Given the description of an element on the screen output the (x, y) to click on. 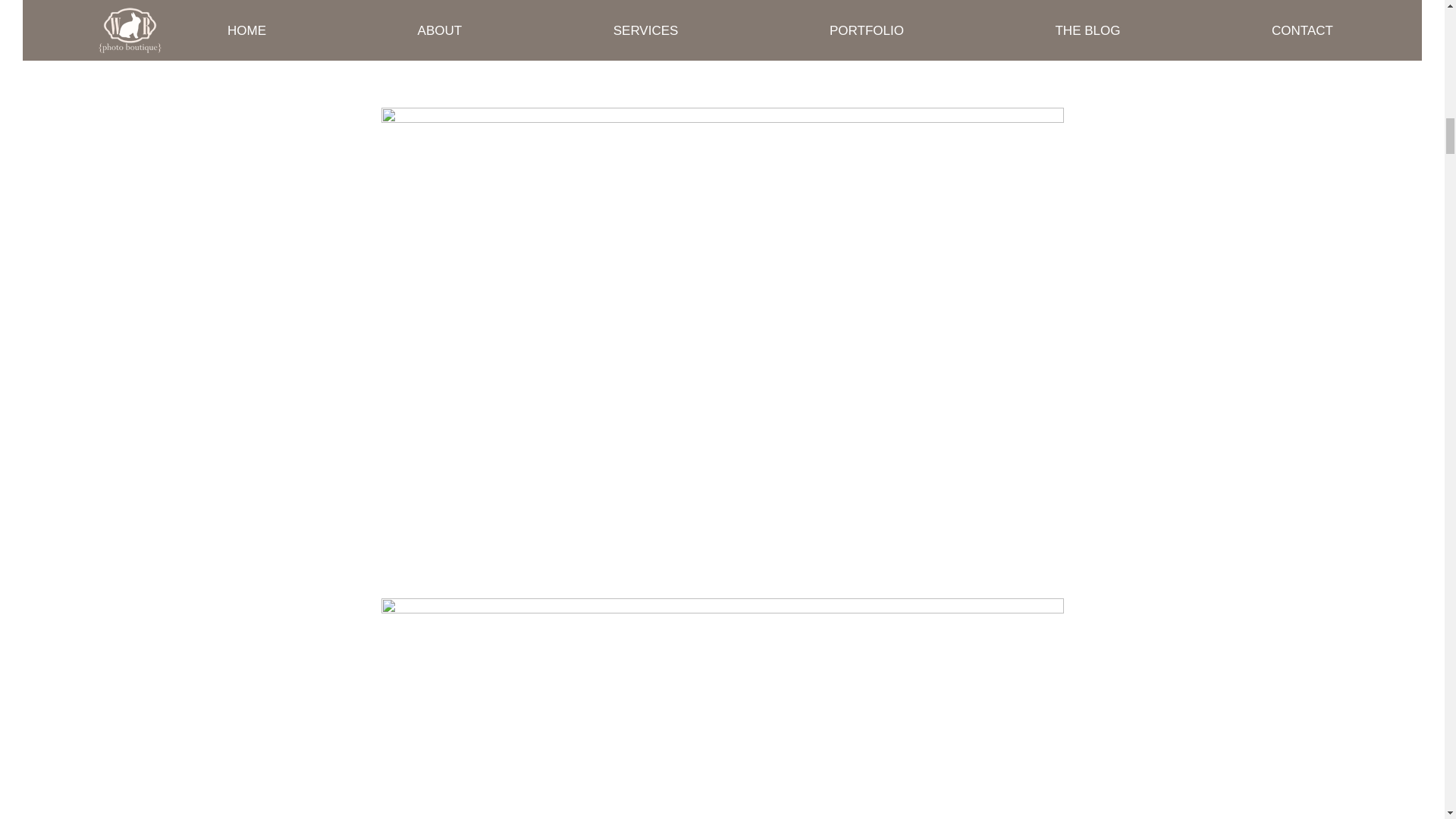
Nightmare Before Christmas Wedding (721, 44)
